Given the description of an element on the screen output the (x, y) to click on. 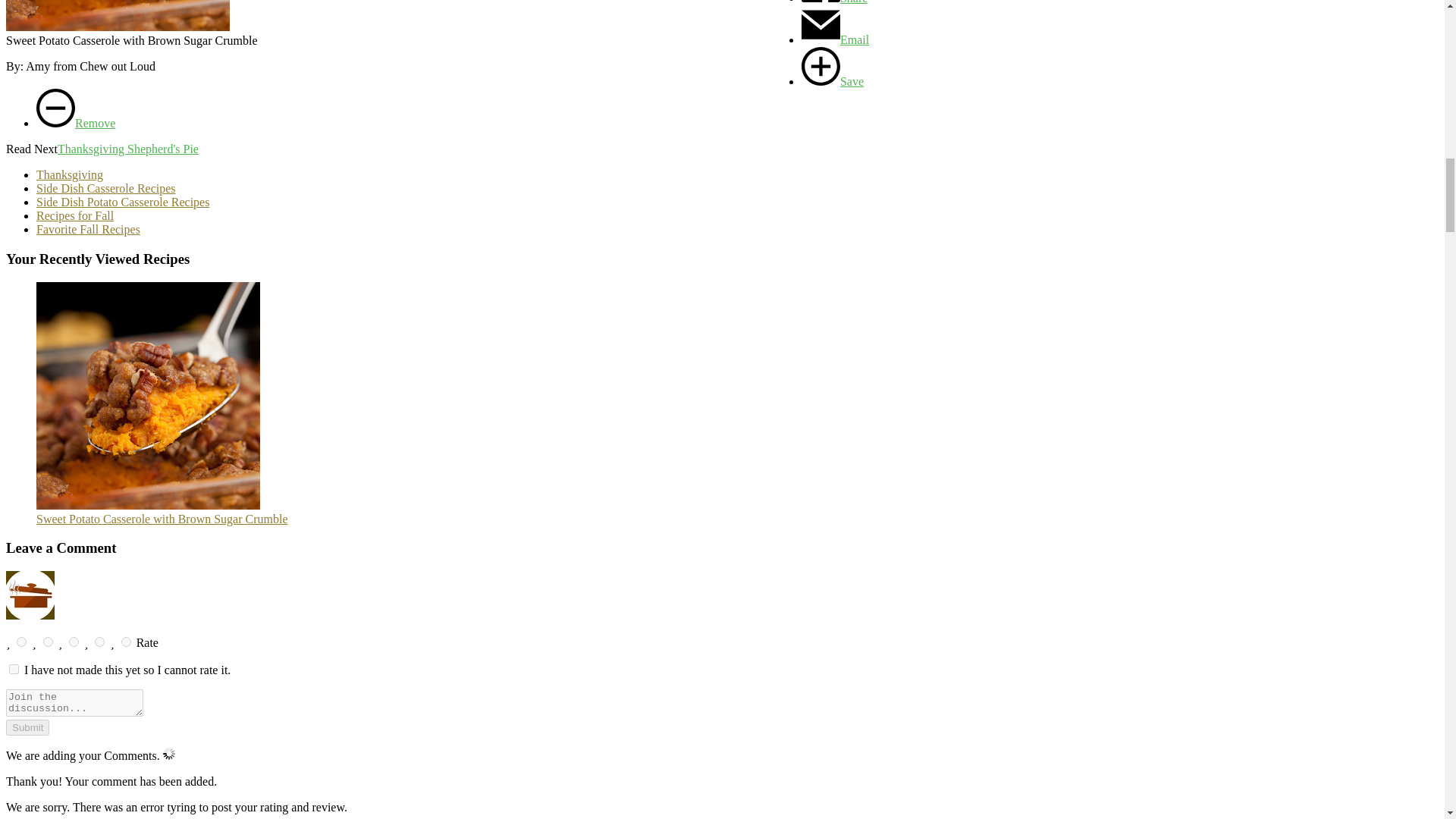
Facebook (834, 2)
1 (21, 642)
3 (73, 642)
Add (832, 81)
5 (125, 642)
Remove (75, 123)
2 (47, 642)
1 (13, 669)
Email (835, 39)
4 (99, 642)
Submit (27, 727)
Sweet Potato Casserole with Brown Sugar Crumble (117, 15)
